Given the description of an element on the screen output the (x, y) to click on. 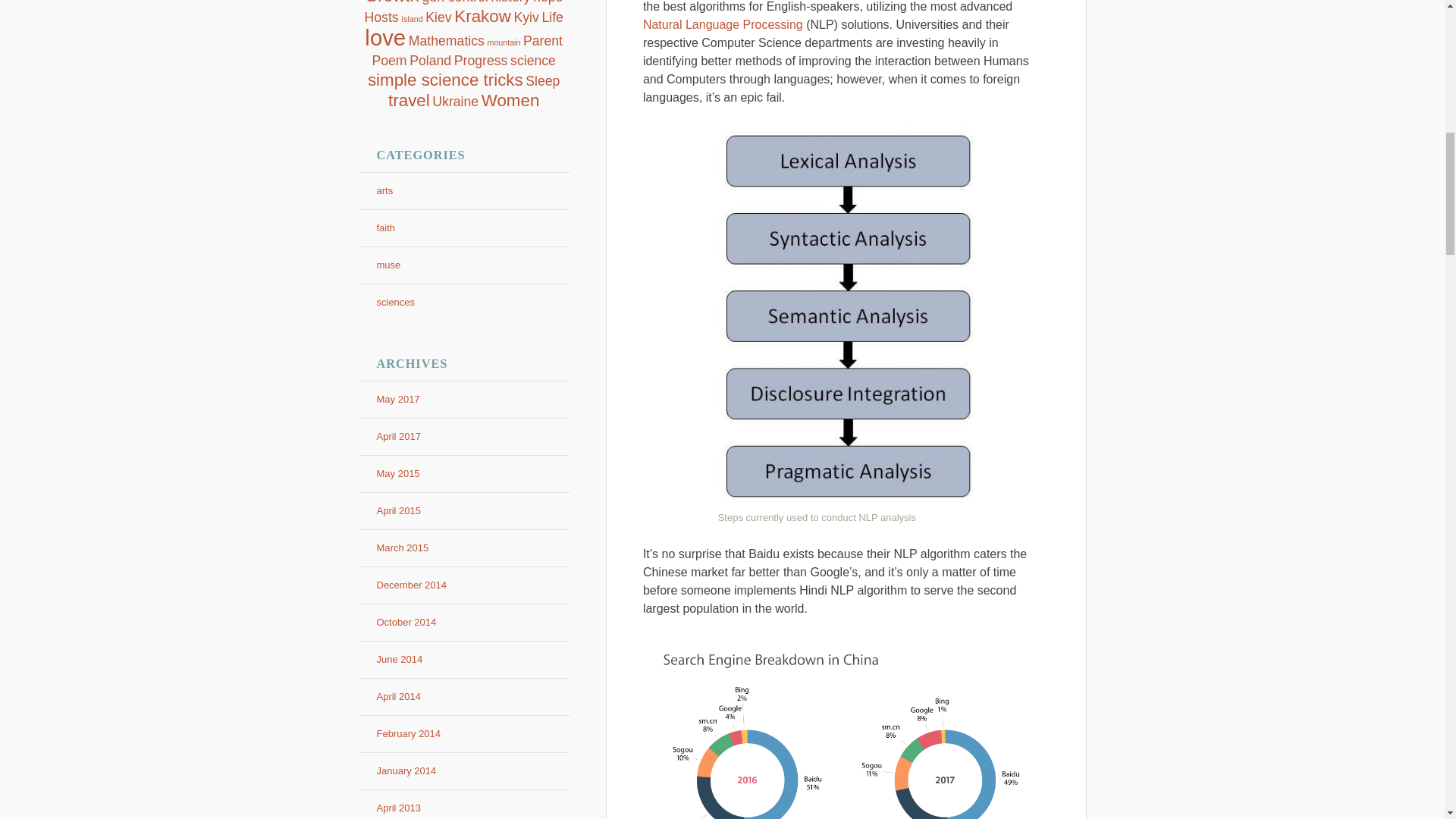
Subjects relevant to personal faith and Baha'i Faith (384, 227)
history (511, 2)
Growth (392, 2)
Kiev (438, 17)
hope (547, 2)
Hosts (381, 17)
Subjects focused on science, mathematics, or social sciences (394, 301)
gun control (454, 2)
Krakow (482, 15)
